Given the description of an element on the screen output the (x, y) to click on. 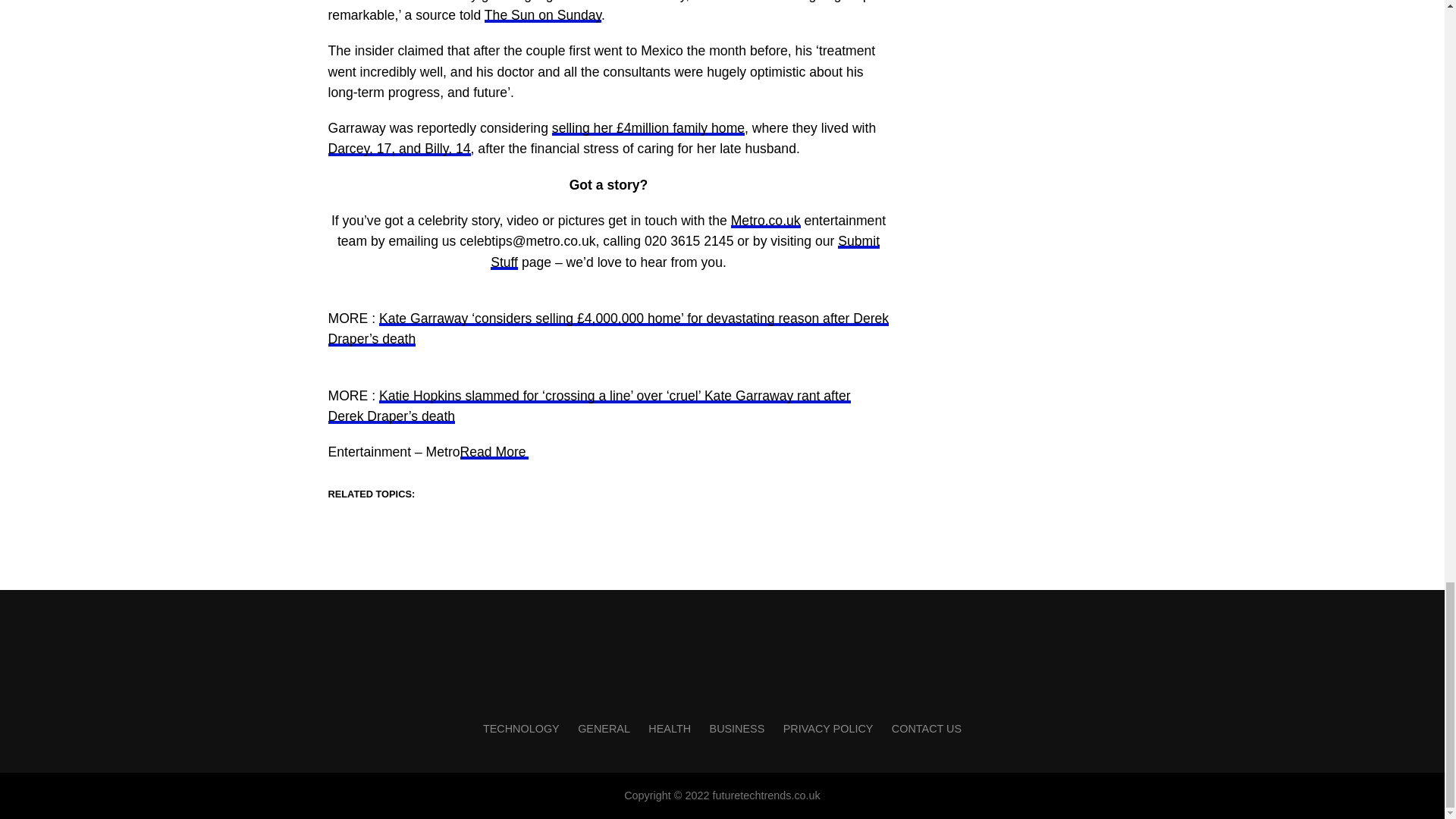
TECHNOLOGY (521, 728)
The Sun on Sunday (542, 14)
Read More (494, 451)
Submit Stuff (684, 251)
GENERAL (604, 728)
Darcey, 17, and Billy, 14 (398, 148)
Metro.co.uk (765, 220)
